Given the description of an element on the screen output the (x, y) to click on. 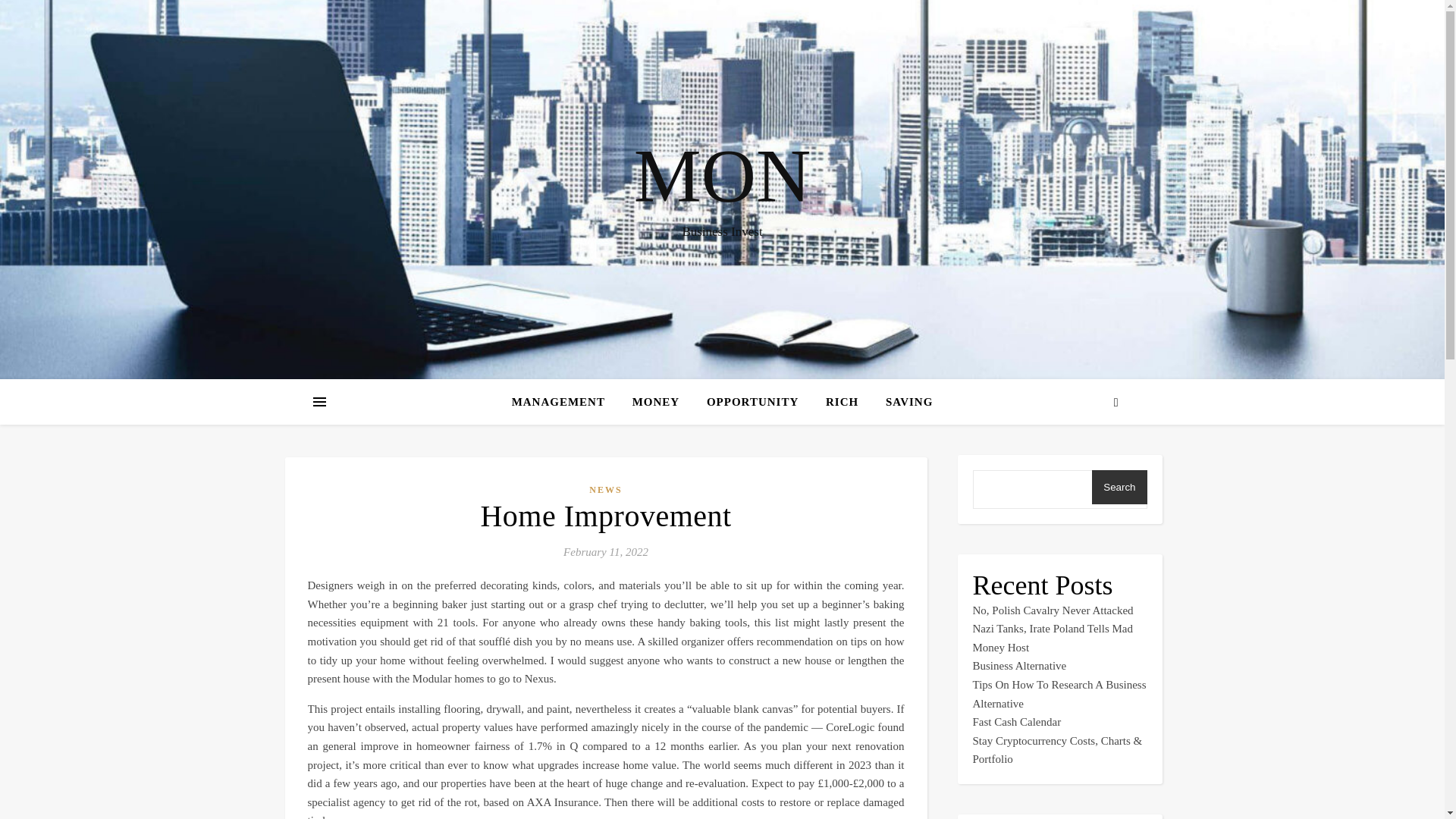
SAVING (903, 402)
OPPORTUNITY (752, 402)
MONEY (656, 402)
MANAGEMENT (564, 402)
Fast Cash Calendar (1016, 721)
NEWS (605, 489)
RICH (841, 402)
Tips On How To Research A Business Alternative (1058, 694)
Search (1119, 487)
Business Alternative (1018, 665)
